Given the description of an element on the screen output the (x, y) to click on. 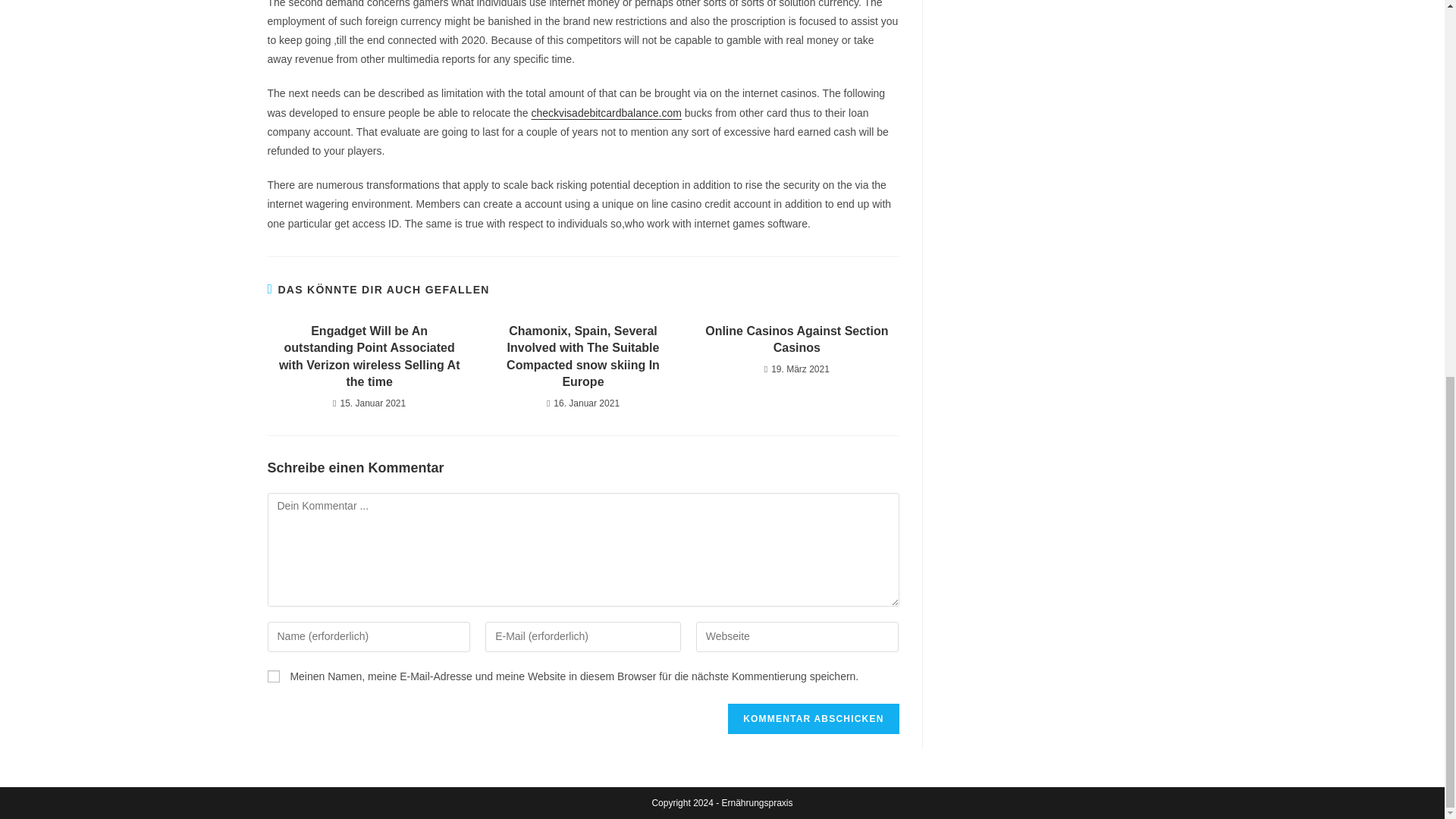
Kommentar abschicken (813, 718)
checkvisadebitcardbalance.com (606, 112)
yes (272, 676)
Kommentar abschicken (813, 718)
Online Casinos Against Section Casinos (796, 339)
